Given the description of an element on the screen output the (x, y) to click on. 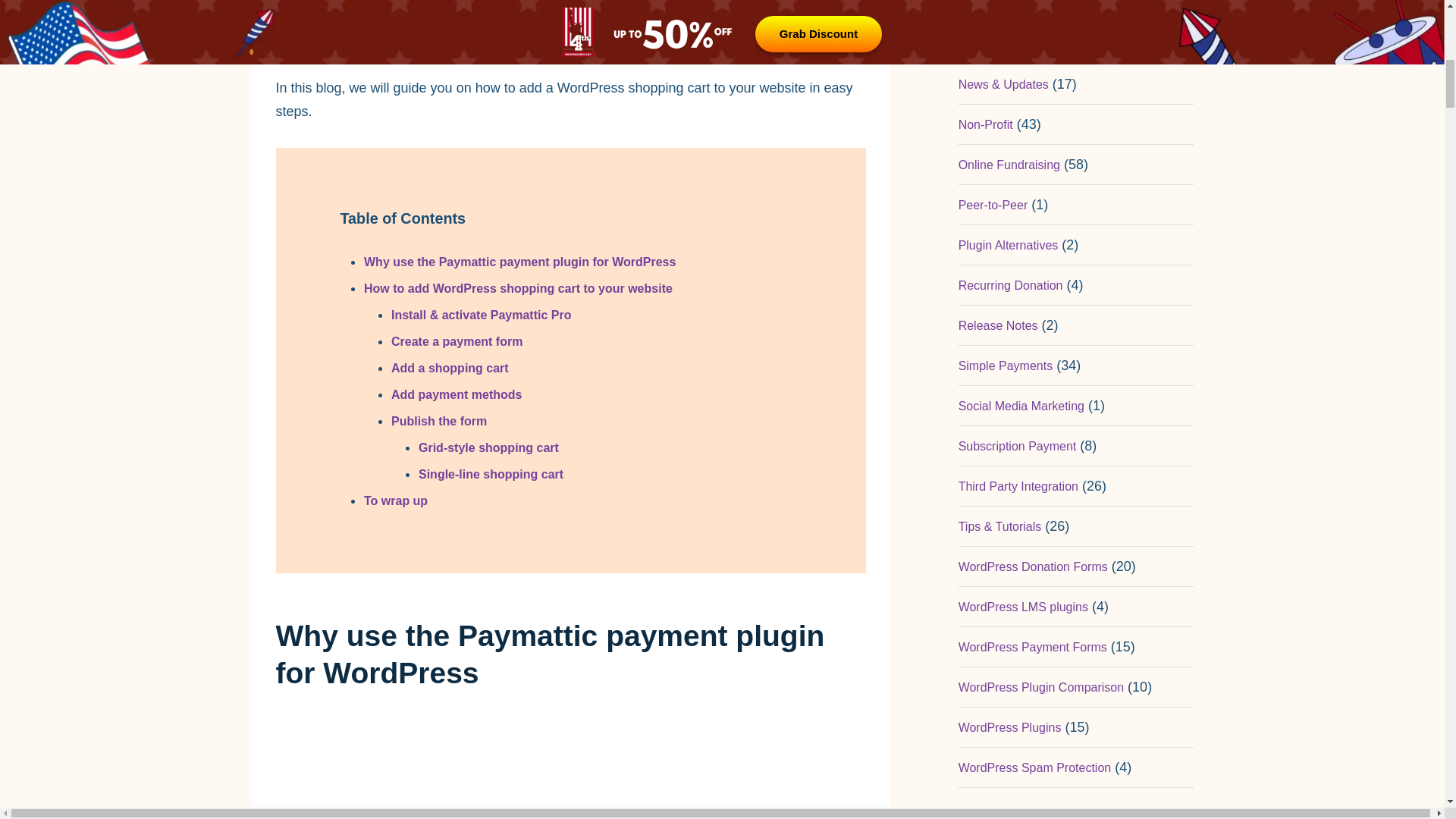
To wrap up (396, 500)
Add payment methods (456, 394)
Add a shopping cart (449, 367)
Create a payment form (456, 341)
Why use the Paymattic payment plugin for WordPress (519, 261)
How to add WordPress shopping cart to your website (518, 287)
Grid-style shopping cart (489, 447)
Single-line shopping cart (491, 473)
Publish the form (438, 420)
